Given the description of an element on the screen output the (x, y) to click on. 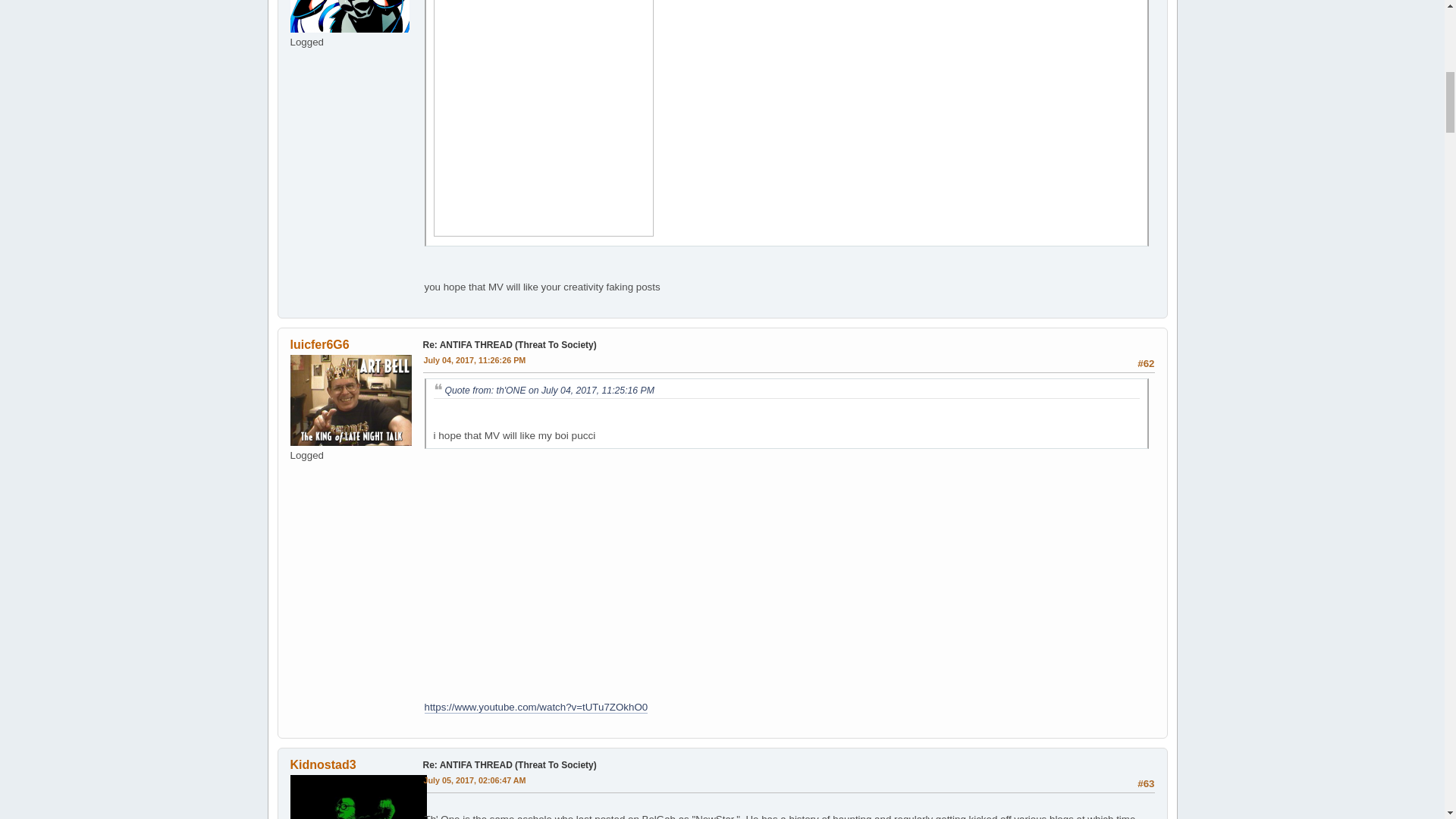
July 04, 2017, 11:26:26 PM (474, 360)
Quote from: th'ONE on July 04, 2017, 11:25:16 PM (548, 389)
Kidnostad3 (322, 764)
View the profile of Kidnostad3 (322, 764)
luicfer6G6 (319, 344)
View the profile of luicfer6G6 (319, 344)
